Given the description of an element on the screen output the (x, y) to click on. 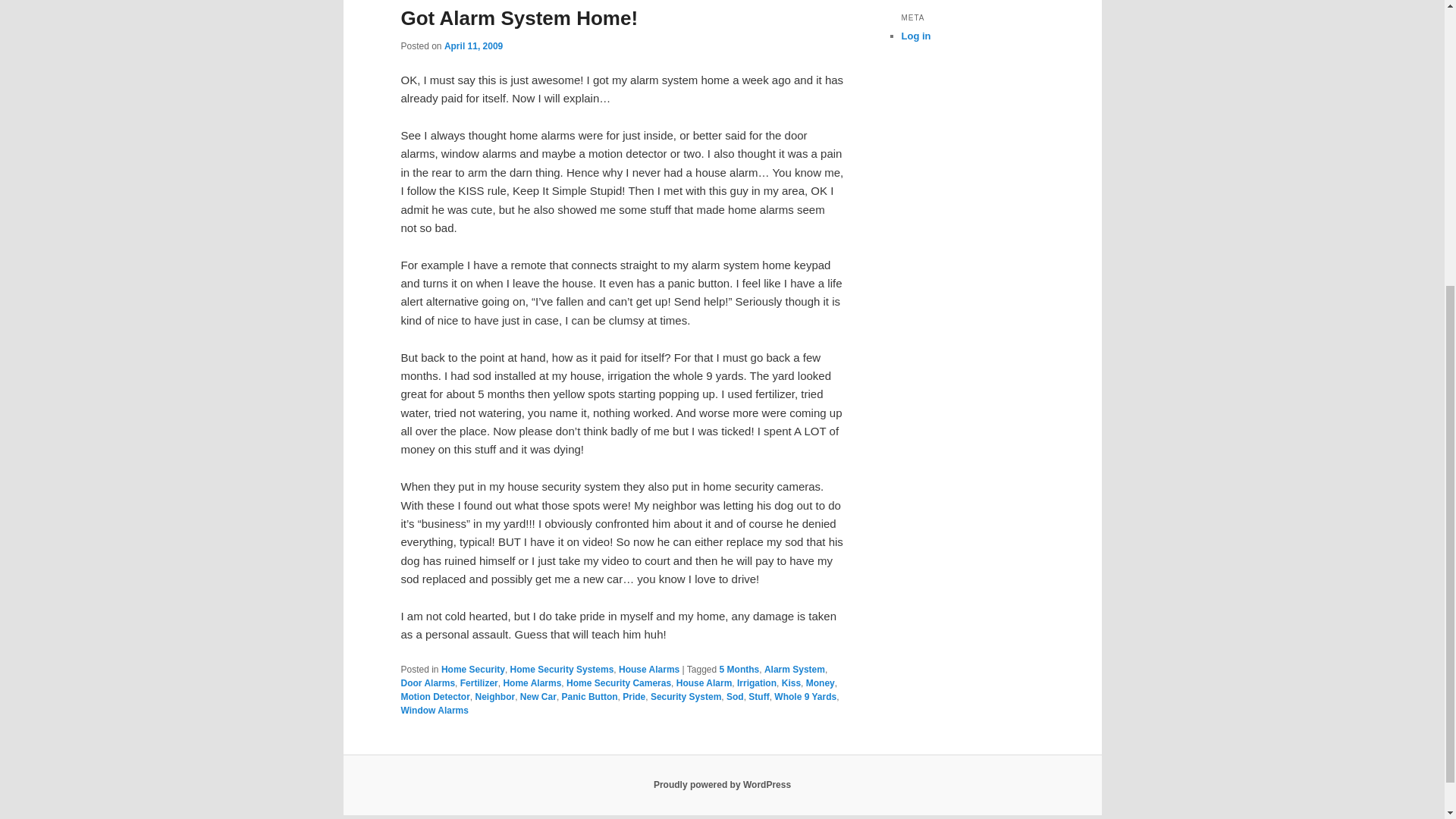
Sod (735, 696)
Pride (634, 696)
Stuff (758, 696)
Home Security Cameras (618, 683)
Home Security (473, 669)
Alarm System (794, 669)
Irrigation (756, 683)
House Alarms (648, 669)
House Alarm (704, 683)
Neighbor (495, 696)
